Given the description of an element on the screen output the (x, y) to click on. 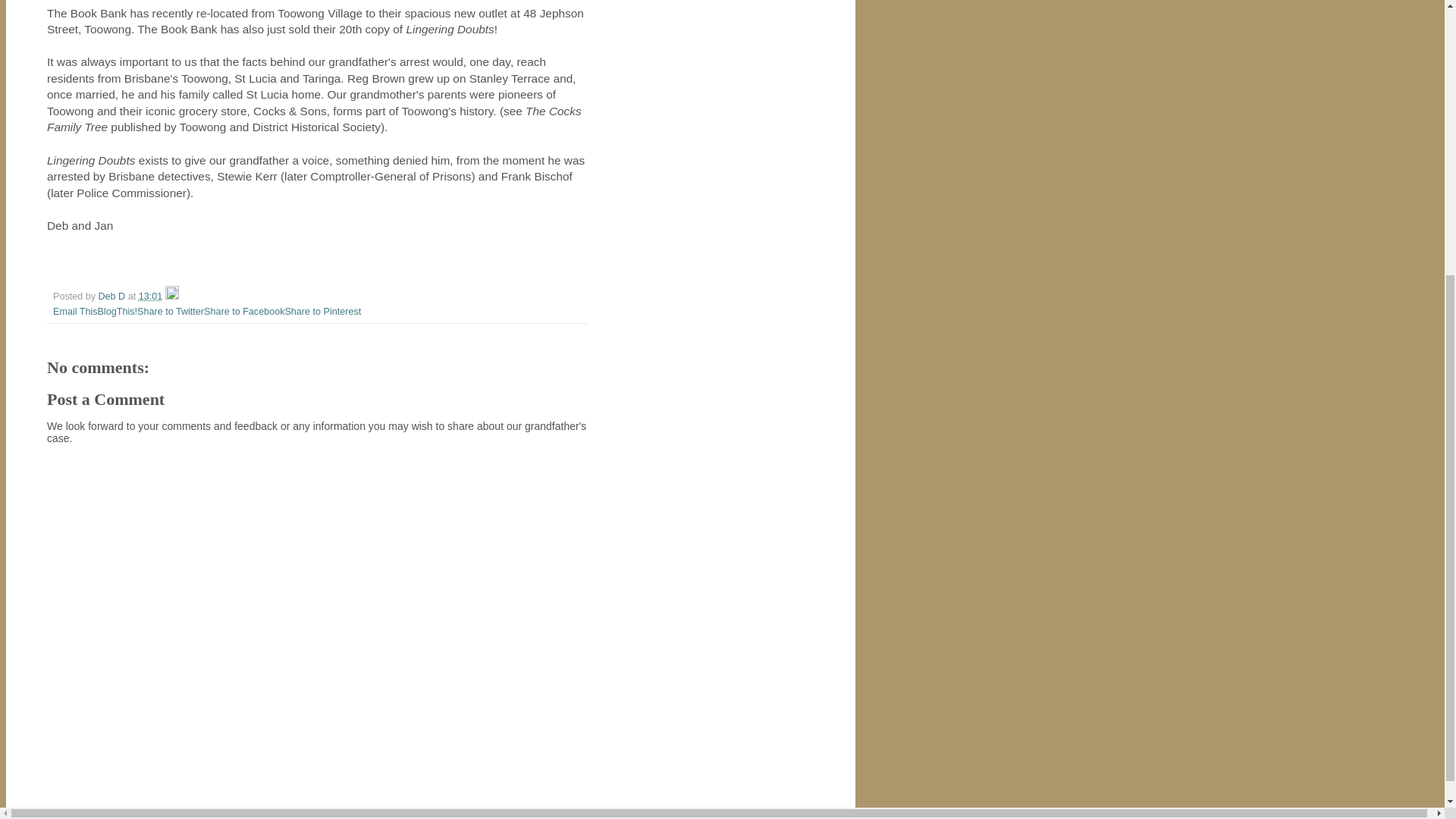
author profile (113, 296)
permanent link (150, 296)
Edit Post (172, 296)
Email This (74, 311)
Share to Facebook (243, 311)
Email This (74, 311)
Share to Twitter (169, 311)
Share to Pinterest (322, 311)
Share to Twitter (169, 311)
BlogThis! (117, 311)
